Given the description of an element on the screen output the (x, y) to click on. 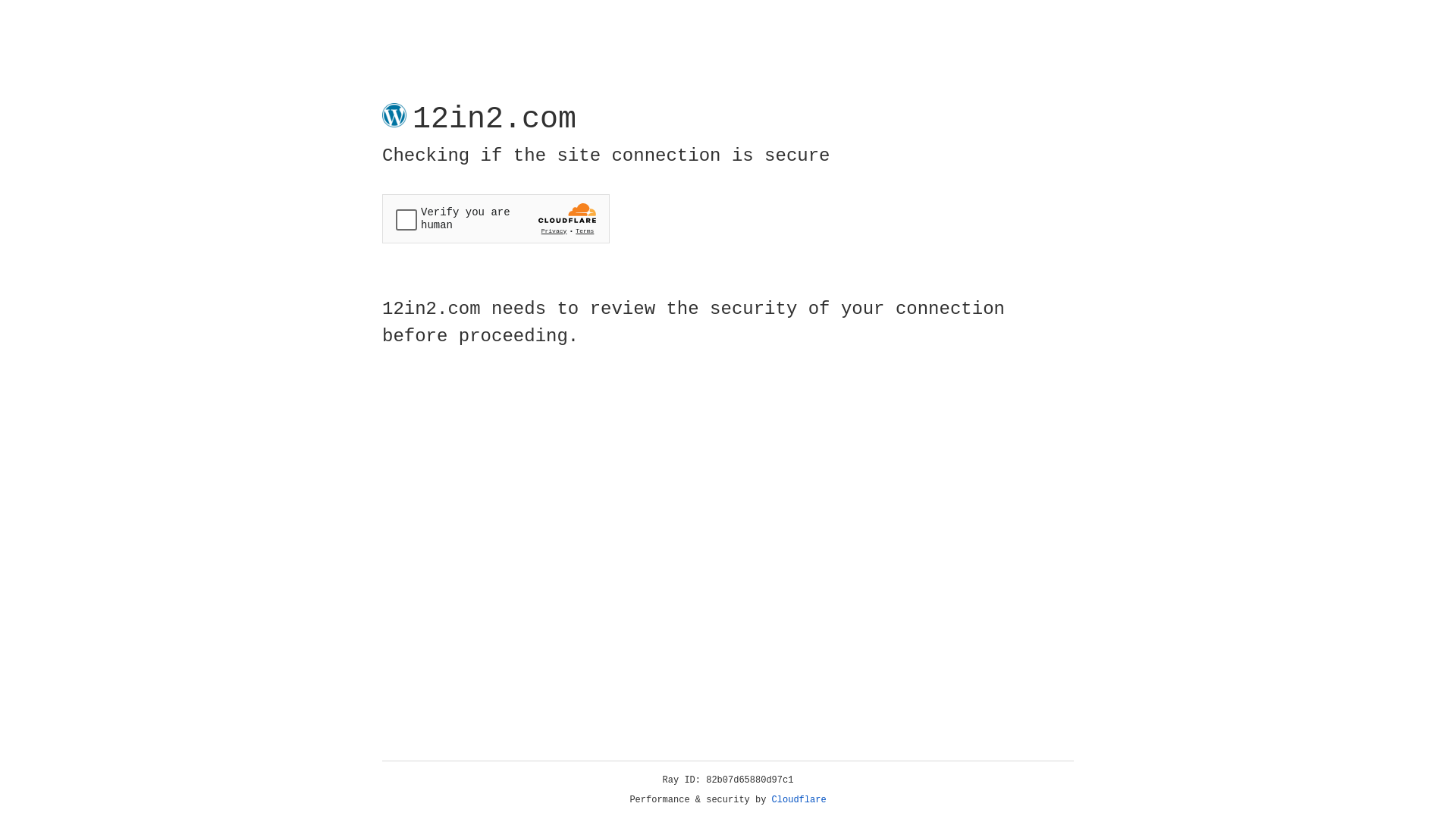
Cloudflare Element type: text (798, 799)
Widget containing a Cloudflare security challenge Element type: hover (495, 218)
